Given the description of an element on the screen output the (x, y) to click on. 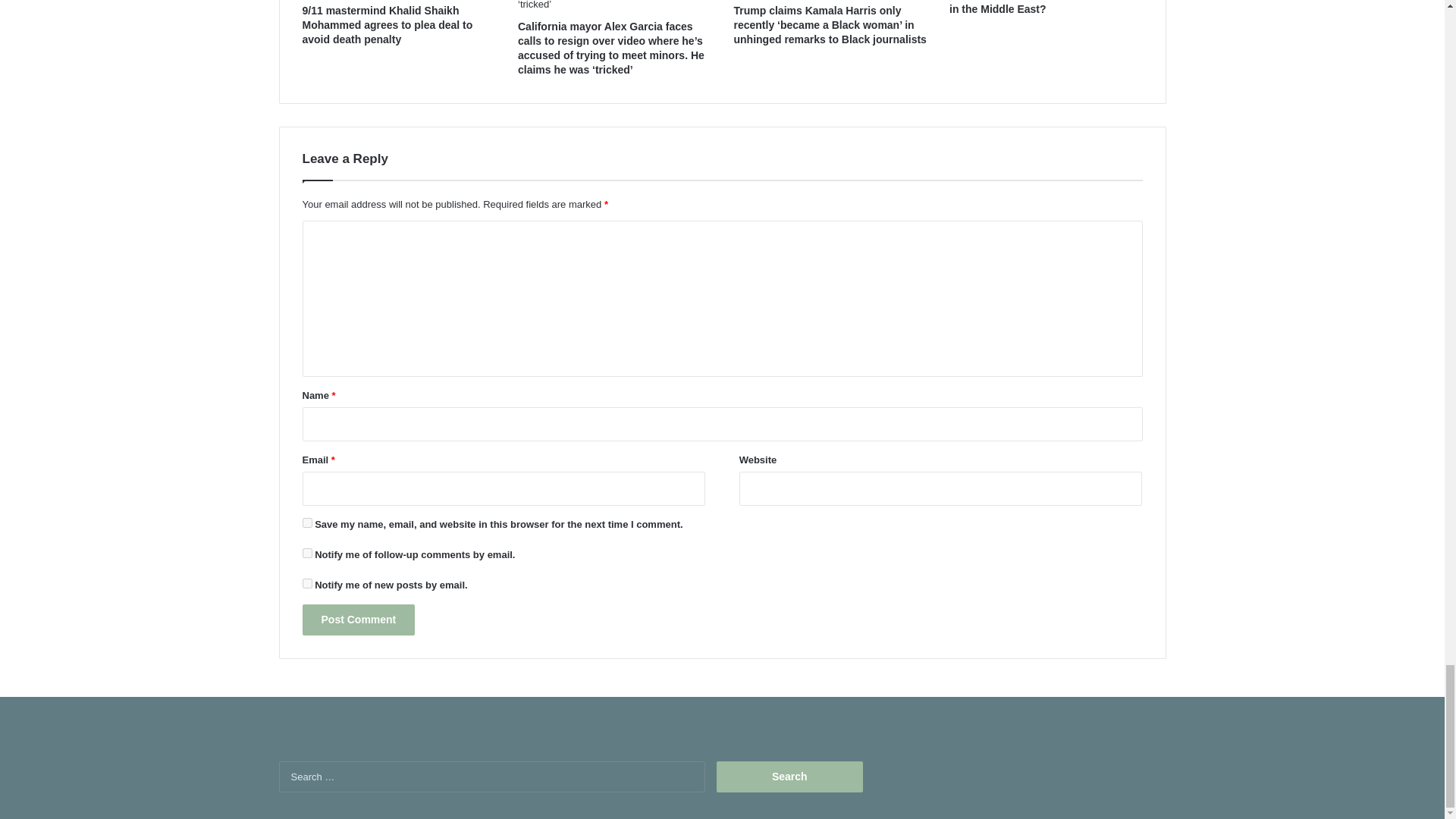
Search (789, 776)
subscribe (306, 583)
Search (789, 776)
subscribe (306, 552)
yes (306, 522)
Post Comment (357, 619)
